Given the description of an element on the screen output the (x, y) to click on. 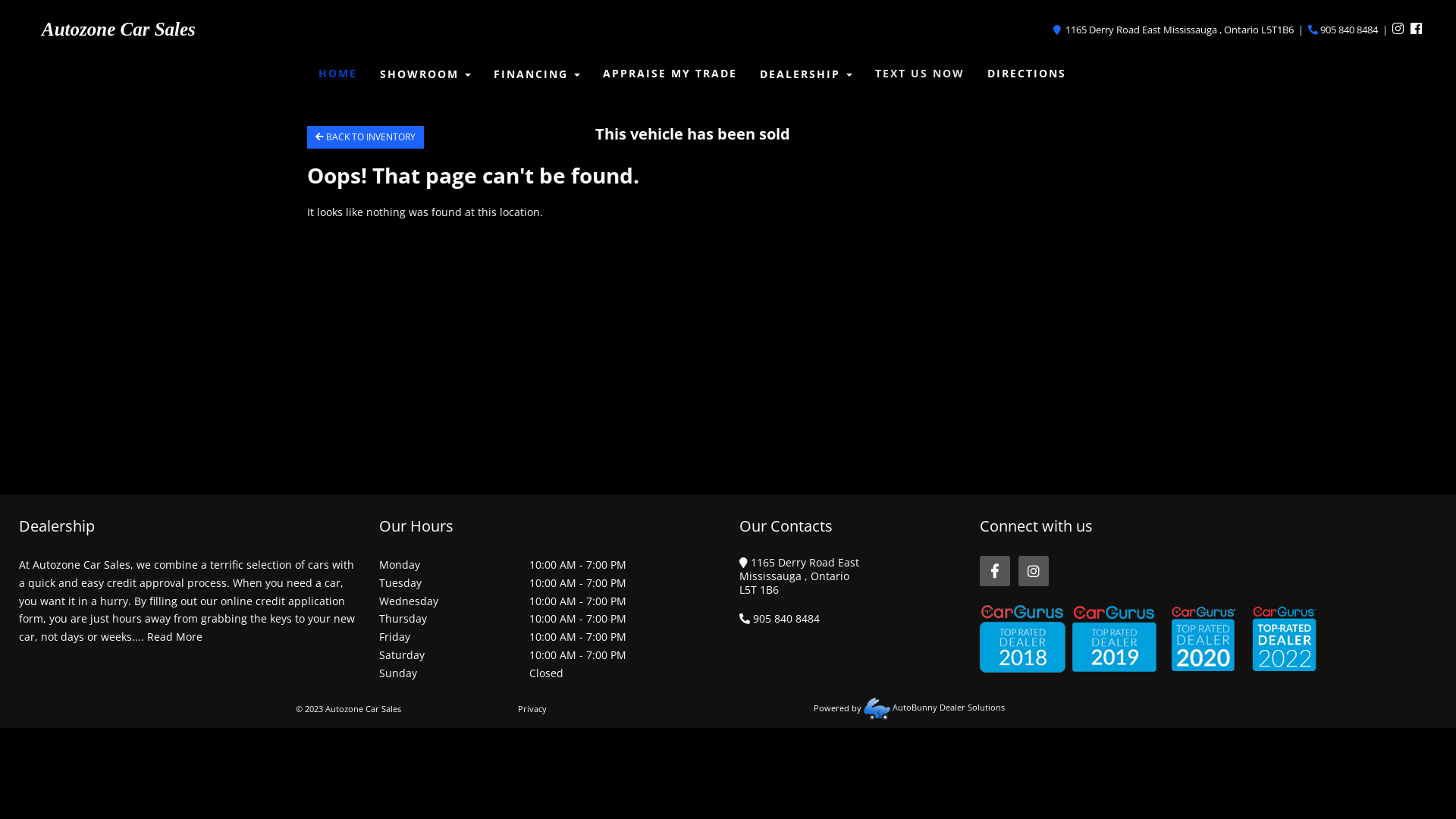
Read More Element type: text (174, 636)
SHOWROOM Element type: text (425, 74)
  1165 Derry Road East Mississauga , Ontario L5T1B6 Element type: text (1174, 29)
HOME Element type: text (337, 73)
Privacy Element type: text (531, 708)
DIRECTIONS Element type: text (1026, 73)
Autozone Car Sales Element type: text (118, 28)
 905 840 8484 Element type: text (1342, 29)
1165 Derry Road East
Mississauga , Ontario
L5T 1B6 Element type: text (799, 575)
APPRAISE MY TRADE Element type: text (669, 73)
TEXT US NOW Element type: text (919, 73)
FINANCING Element type: text (536, 74)
DEALERSHIP Element type: text (805, 74)
 BACK TO INVENTORY Element type: text (365, 136)
 AutoBunny Dealer Solutions Element type: text (933, 706)
